Given the description of an element on the screen output the (x, y) to click on. 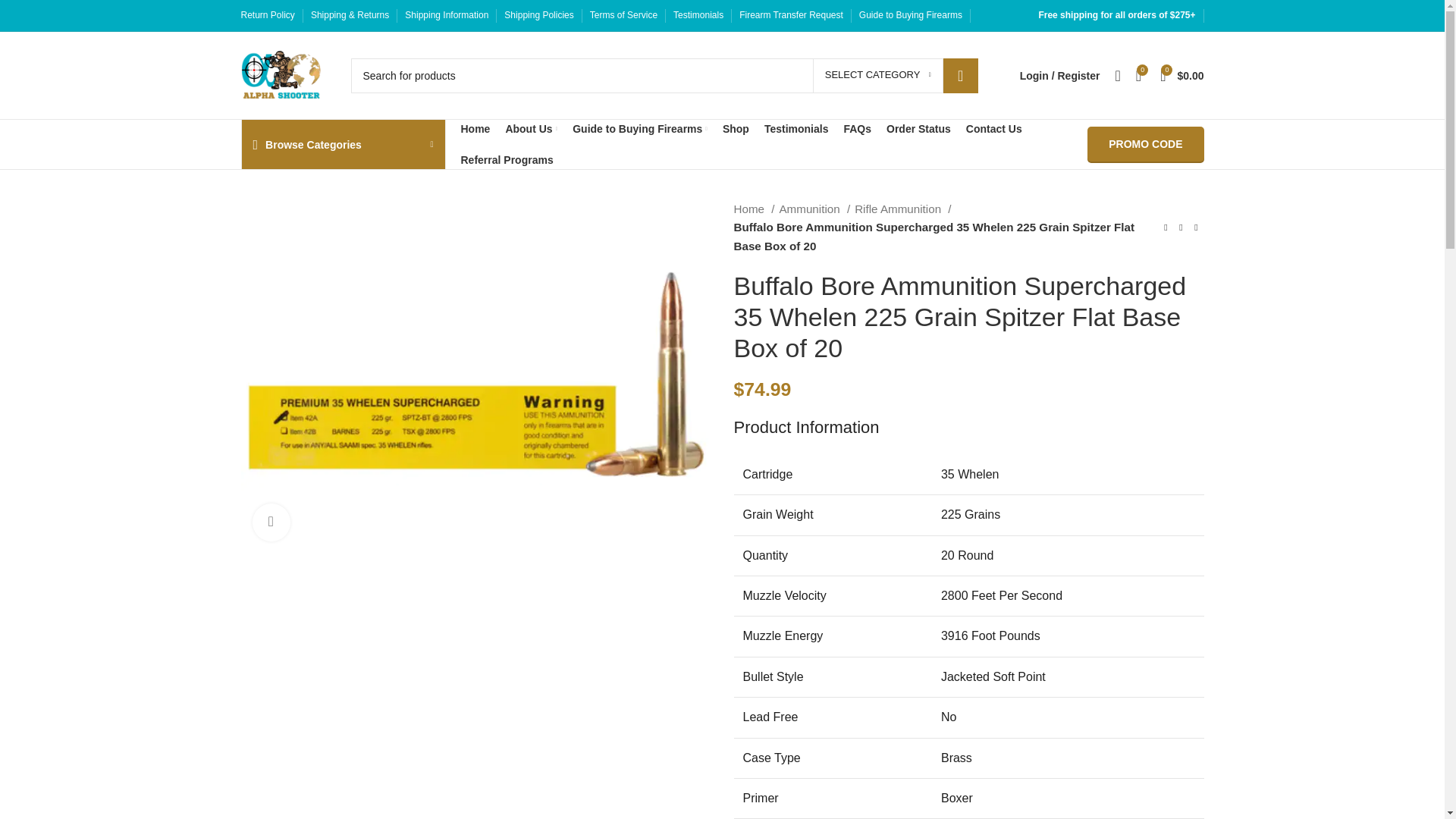
Terms of Service (623, 15)
Shipping Policies (538, 15)
Shopping cart (1182, 75)
My account (1059, 75)
Firearm Transfer Request (791, 15)
Shipping Information (445, 15)
Guide to Buying Firearms (910, 15)
Testimonials (697, 15)
SELECT CATEGORY (877, 75)
Search for products (663, 74)
